Given the description of an element on the screen output the (x, y) to click on. 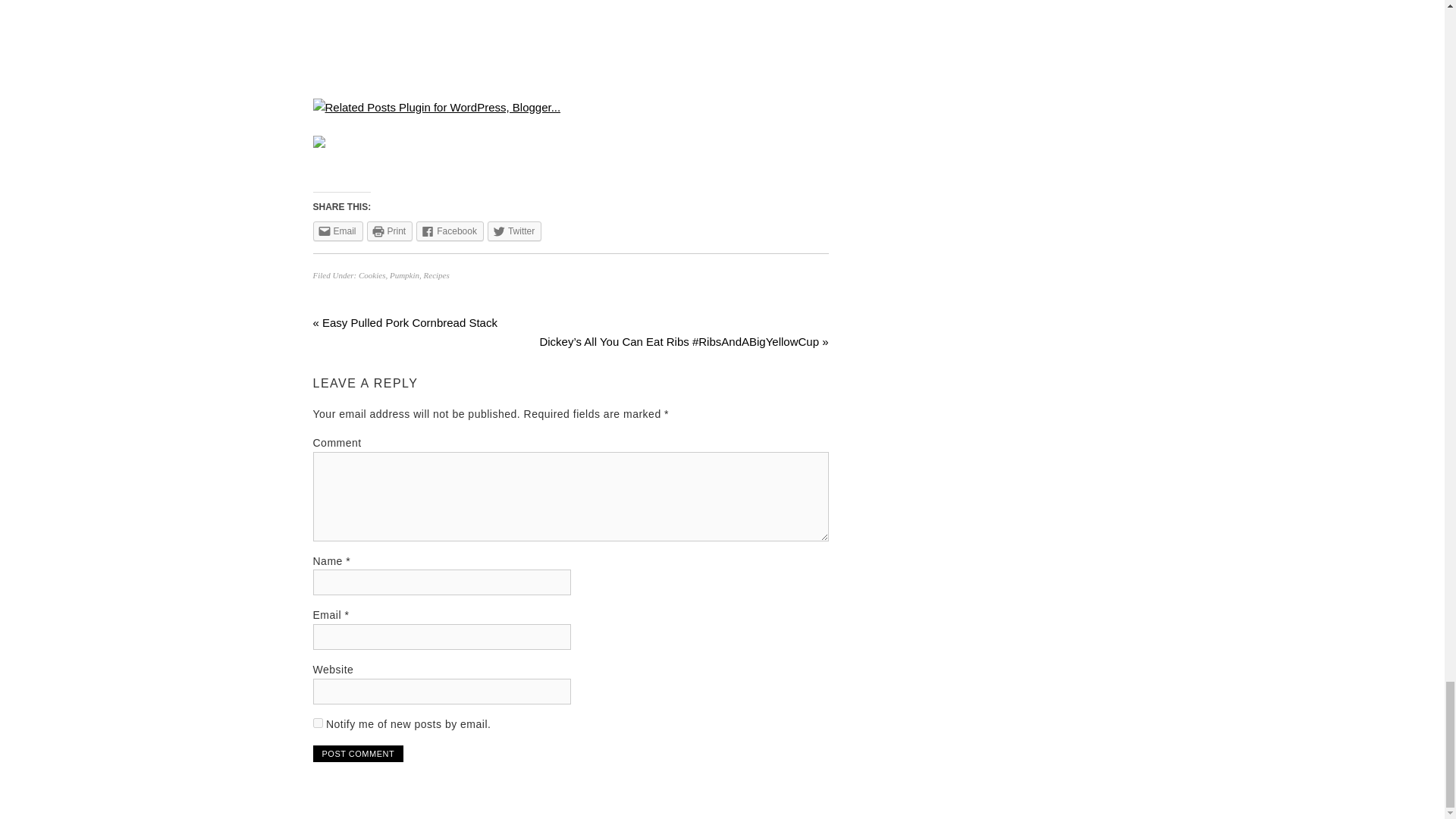
Recipes (436, 275)
Click to email this to a friend (337, 230)
Click to print (389, 230)
subscribe (317, 723)
Cookies (371, 275)
Twitter (514, 230)
Post Comment (358, 753)
Pumpkin (404, 275)
Facebook (449, 230)
Click to share on Twitter (514, 230)
Click to share on Facebook (449, 230)
Email (337, 230)
Post Comment (358, 753)
Print (389, 230)
